Given the description of an element on the screen output the (x, y) to click on. 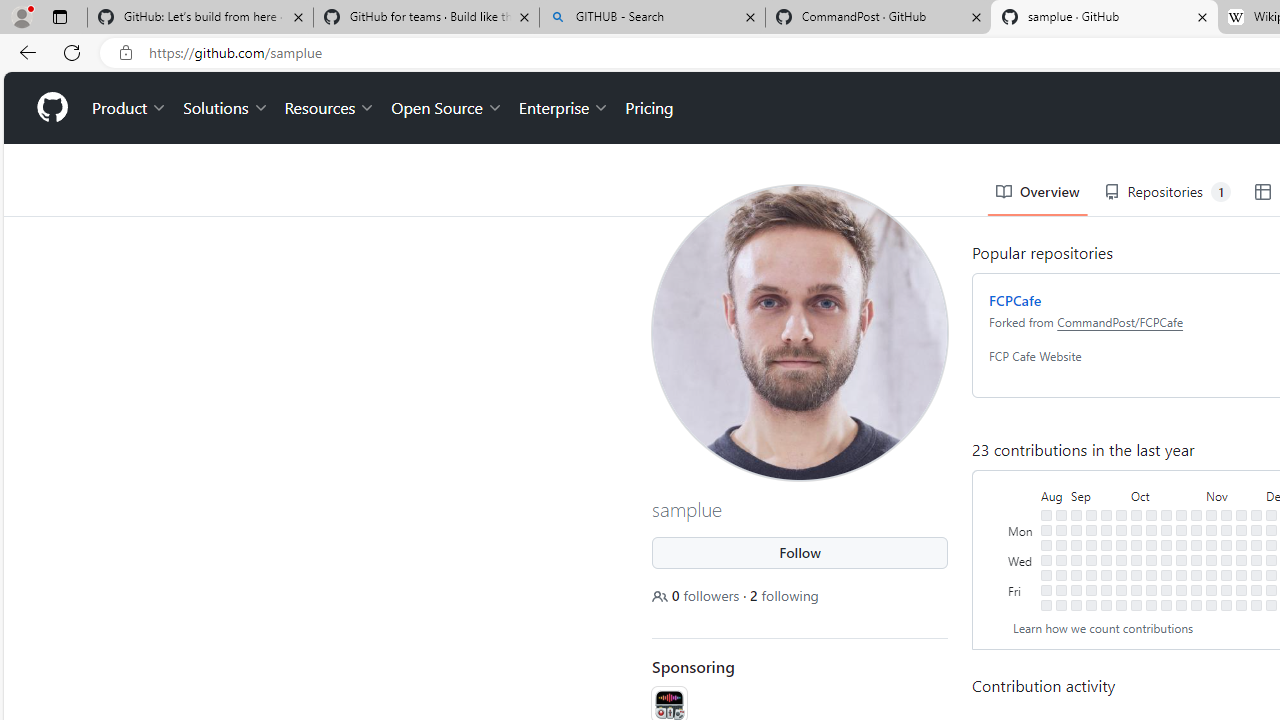
No contributions on August 31st. (1061, 574)
No contributions on November 19th. (1241, 515)
Solutions (225, 107)
No contributions on September 10th. (1090, 515)
No contributions on September 17th. (1106, 515)
No contributions on October 22nd. (1181, 515)
No contributions on November 20th. (1241, 529)
No contributions on December 4th. (1271, 529)
Enterprise (563, 107)
No contributions on September 11th. (1090, 529)
Solutions (225, 107)
No contributions on October 5th. (1136, 574)
No contributions on August 24th. (1046, 574)
No contributions on September 2nd. (1061, 605)
No contributions on October 12th. (1151, 574)
